Given the description of an element on the screen output the (x, y) to click on. 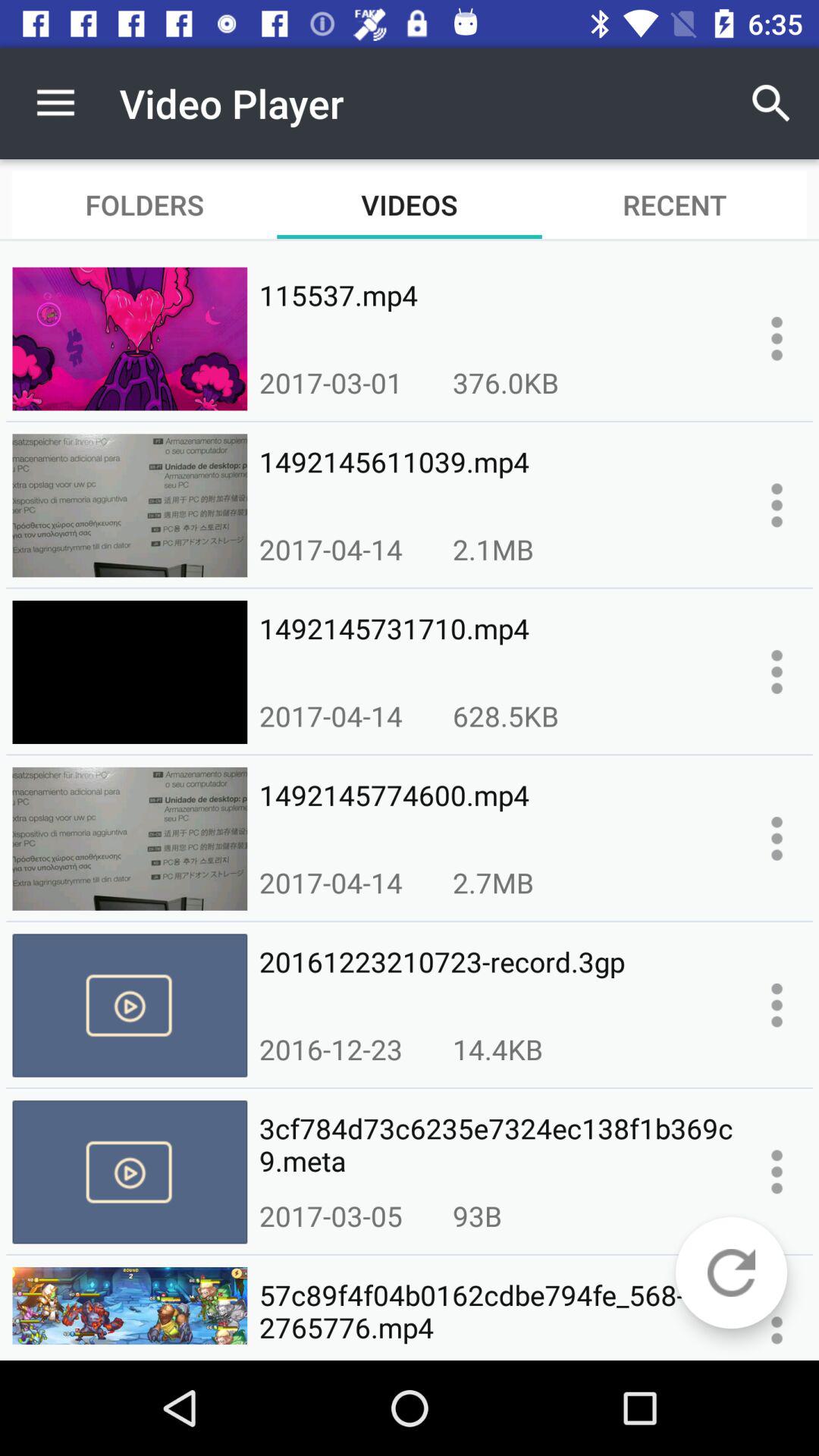
turn on the icon above 3cf784d73c6235e7324ec138f1b369c9.meta item (330, 1049)
